Given the description of an element on the screen output the (x, y) to click on. 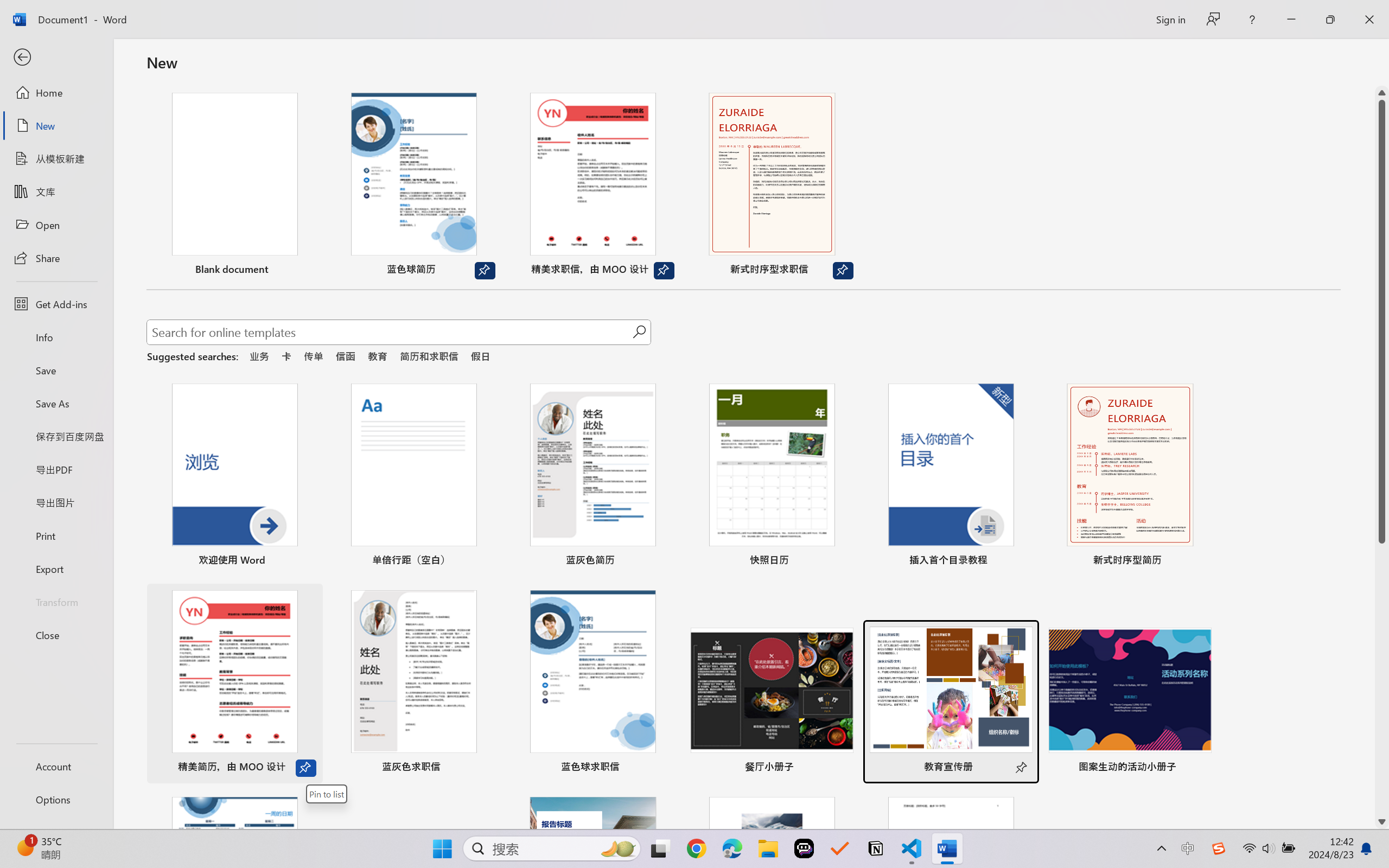
Start searching (638, 332)
